Given the description of an element on the screen output the (x, y) to click on. 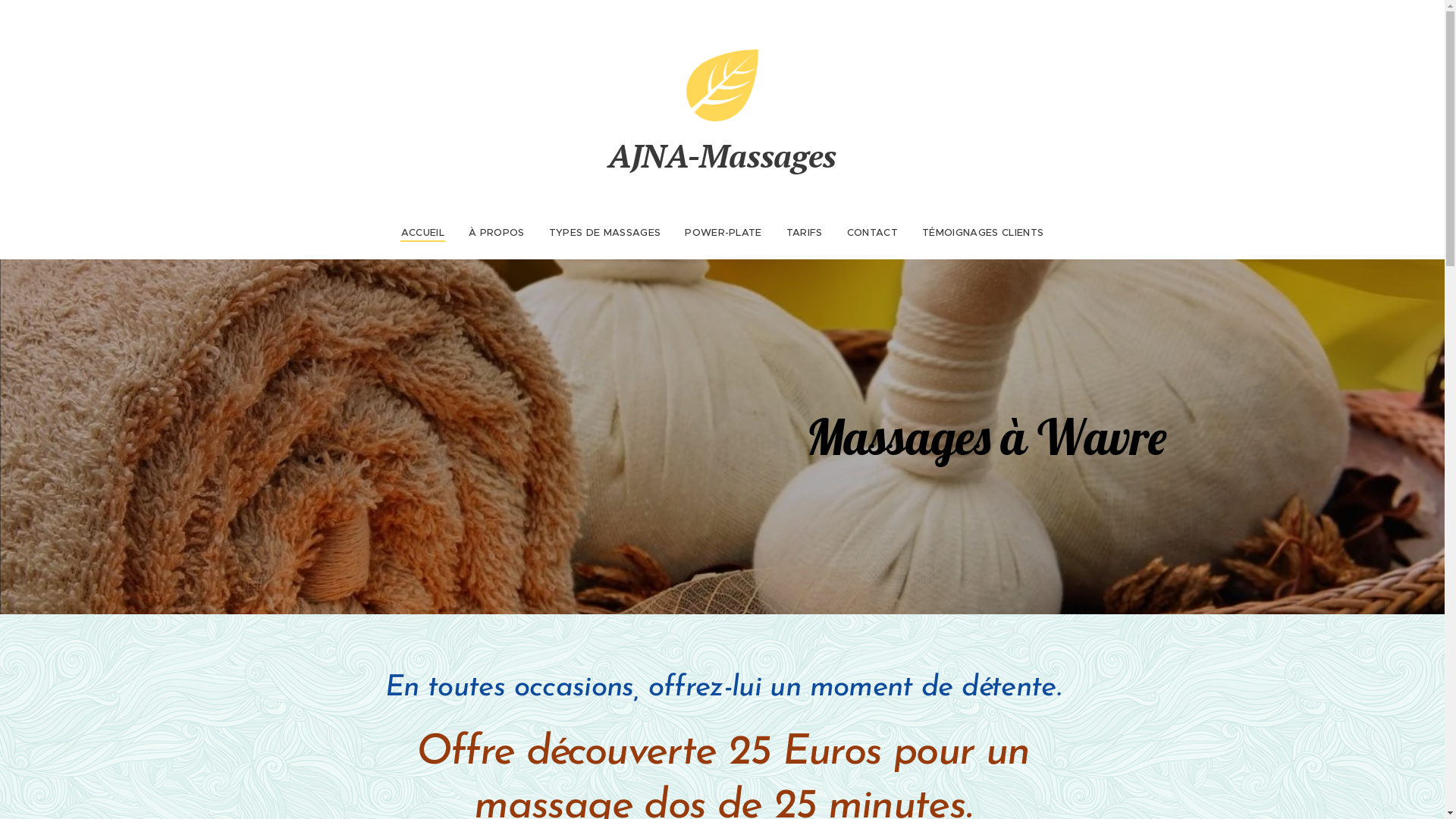
TARIFS Element type: text (804, 232)
CONTACT Element type: text (872, 232)
TYPES DE MASSAGES Element type: text (604, 232)
ACCUEIL Element type: text (428, 232)
POWER-PLATE Element type: text (723, 232)
